Given the description of an element on the screen output the (x, y) to click on. 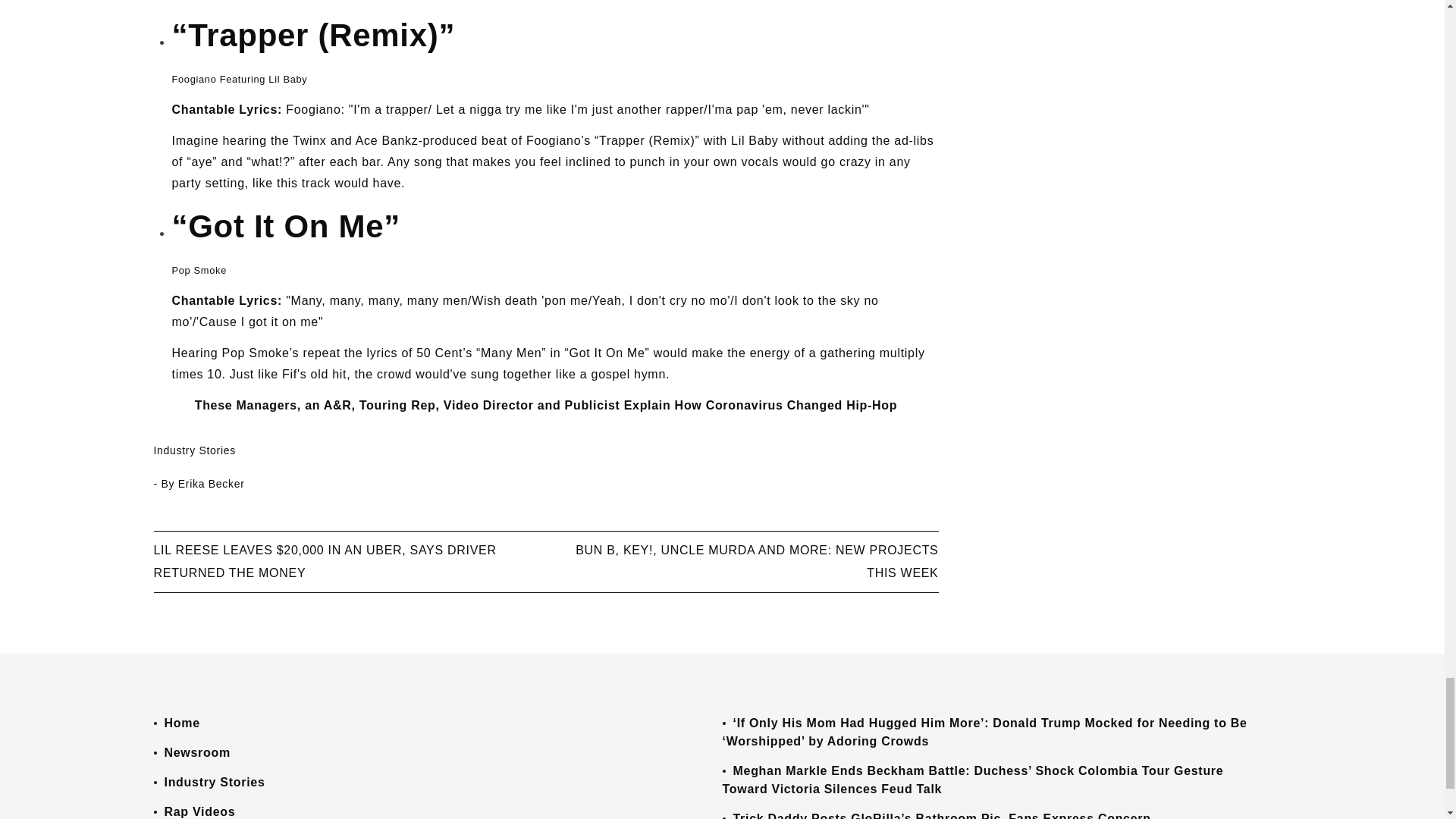
Industry Stories (193, 450)
BUN B, KEY!, UNCLE MURDA AND MORE: NEW PROJECTS THIS WEEK (756, 560)
Industry Stories (213, 780)
Erika Becker (210, 483)
Home (181, 721)
Rap Videos (198, 811)
Newsroom (196, 752)
